Given the description of an element on the screen output the (x, y) to click on. 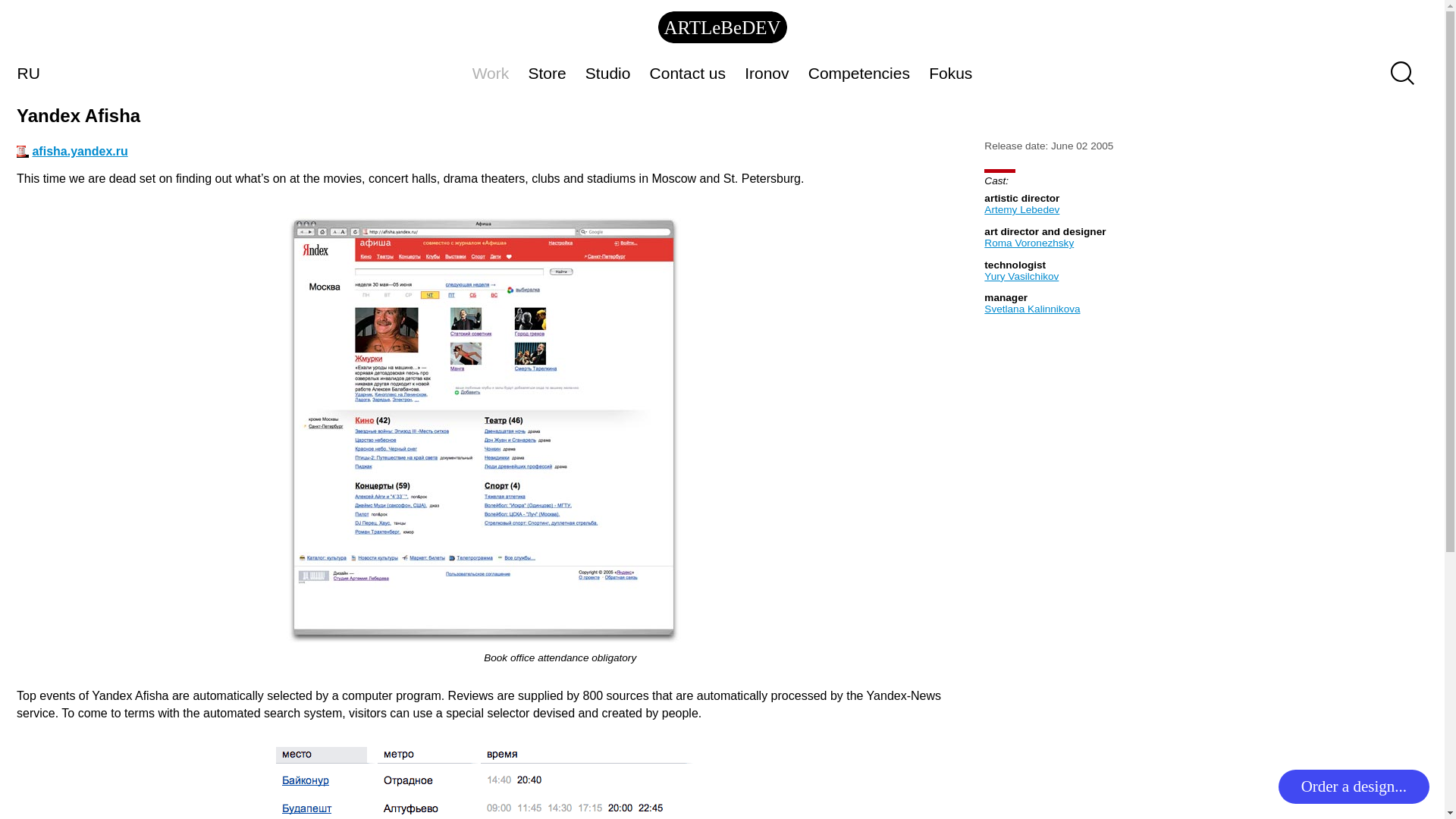
Contact us (687, 72)
Work (490, 72)
RU (28, 72)
Studio (607, 72)
Svetlana Kalinnikova (1032, 308)
Artemy Lebedev (1021, 209)
Roma Voronezhsky (1029, 242)
afisha.yandex.ru (80, 151)
Fokus (950, 72)
Ironov (767, 72)
Yury Vasilchikov (1021, 276)
Competencies (857, 72)
Store (546, 72)
